Given the description of an element on the screen output the (x, y) to click on. 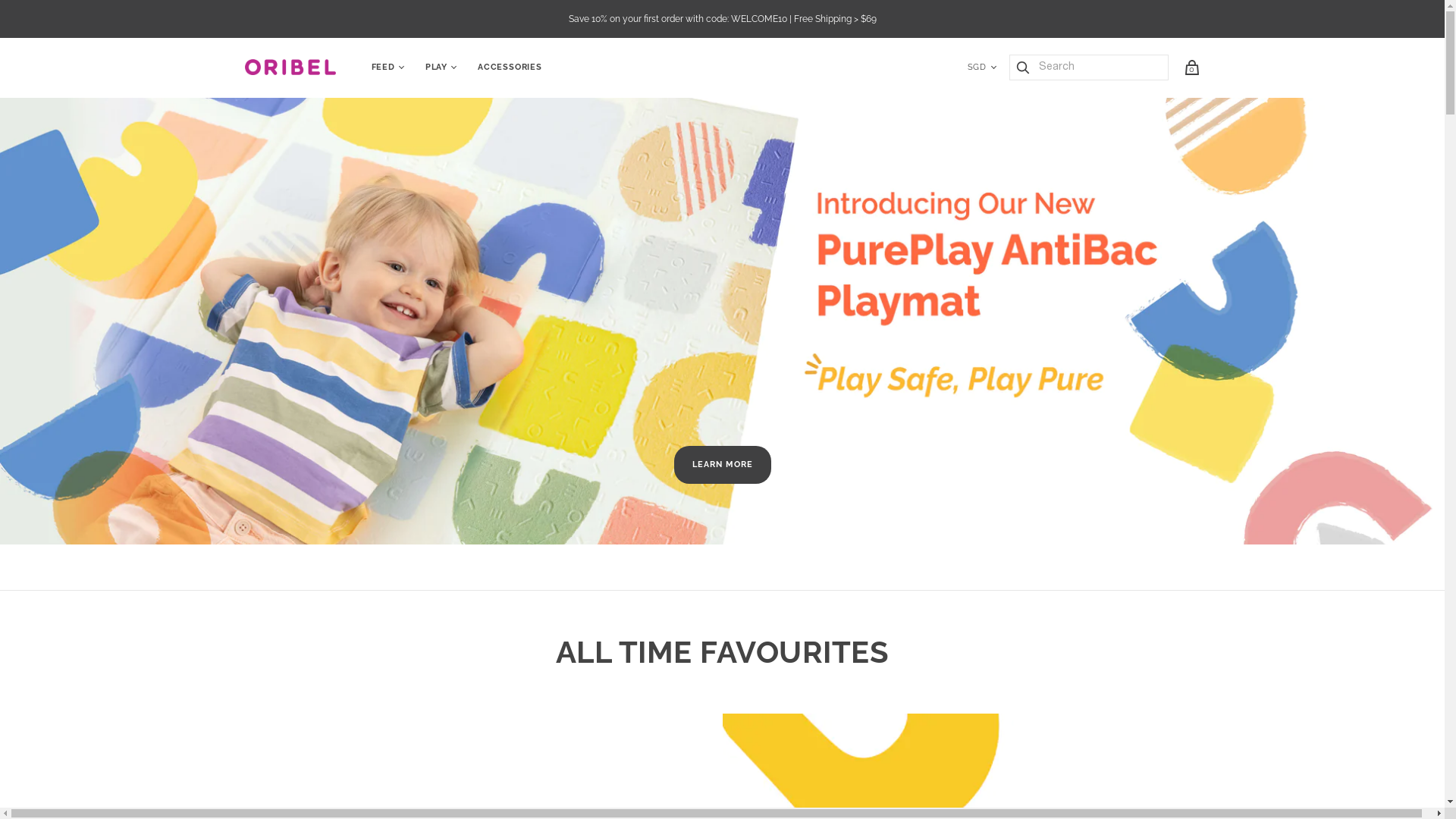
0 Element type: text (1191, 67)
ACCESSORIES Element type: text (509, 67)
FEED Element type: text (382, 67)
PLAY Element type: text (436, 67)
LEARN MORE Element type: text (721, 464)
